Given the description of an element on the screen output the (x, y) to click on. 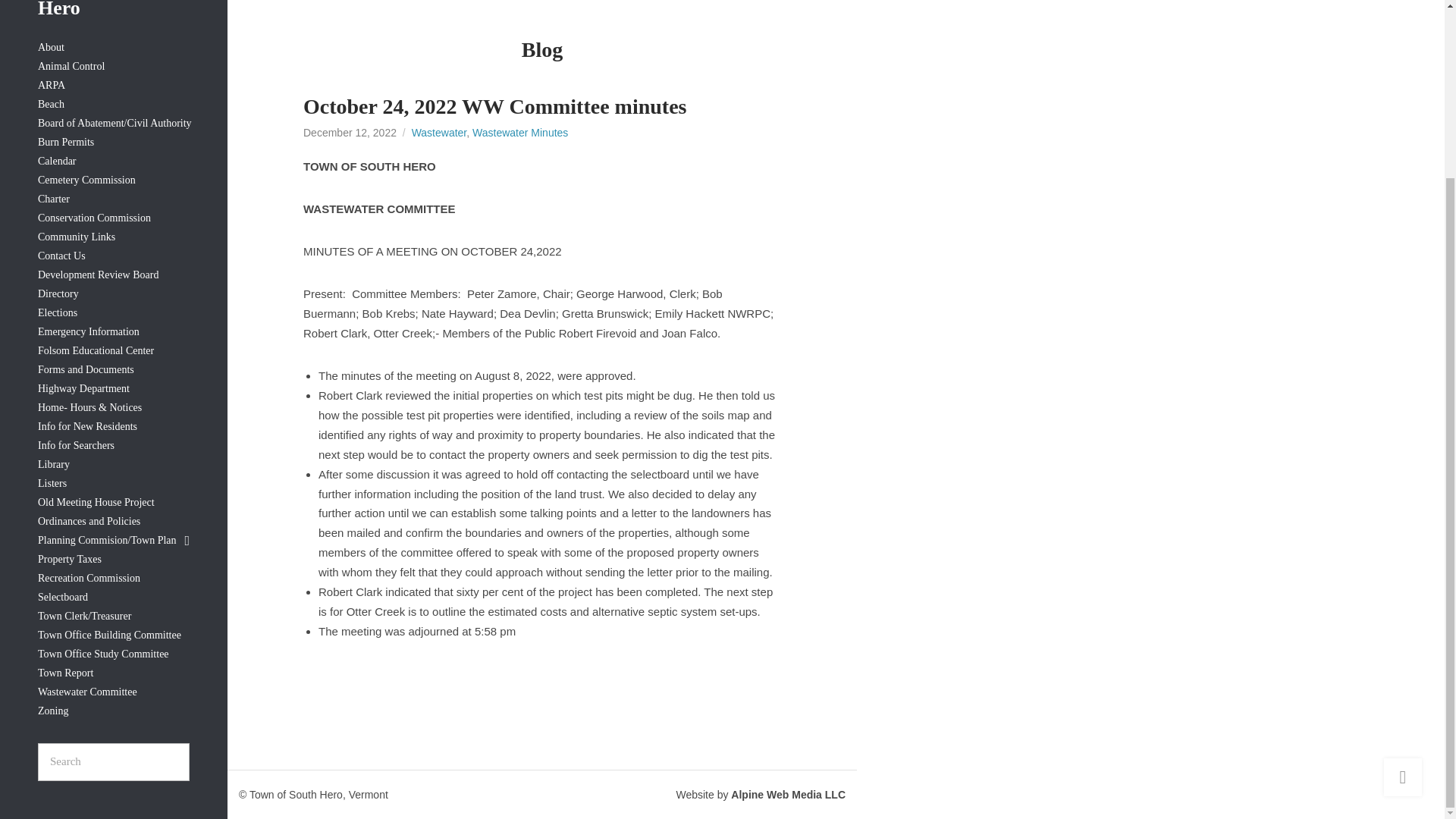
Community Links (113, 237)
Town Report (113, 673)
Zoning (113, 710)
Forms and Documents (113, 370)
Info for New Residents (113, 426)
ARPA (113, 85)
Elections (113, 312)
Town Office Building Committee (113, 635)
Old Meeting House Project (113, 502)
Burn Permits (113, 142)
